Given the description of an element on the screen output the (x, y) to click on. 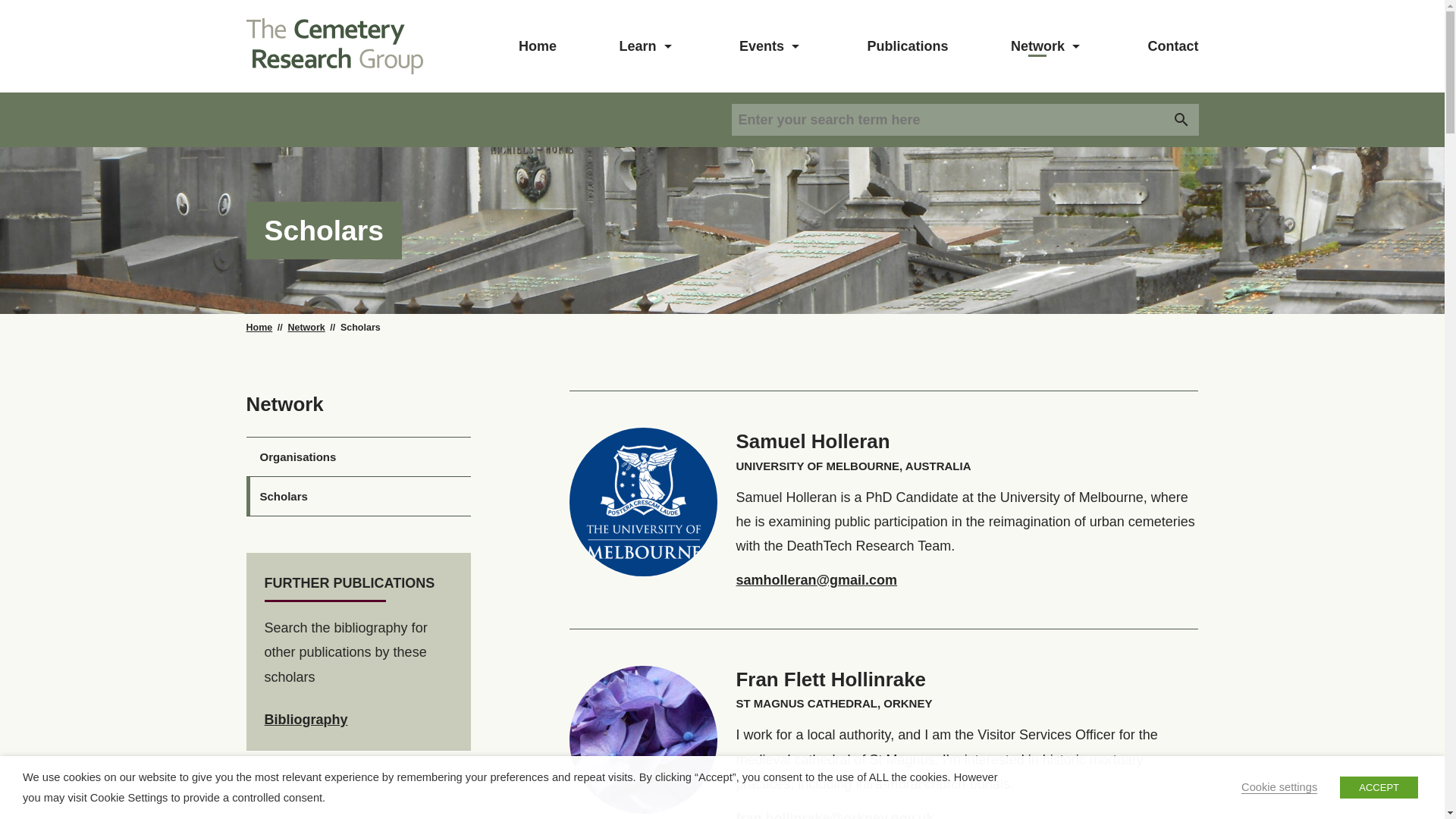
Publications (908, 46)
Search (1181, 119)
Home (259, 327)
Network (305, 327)
Samuel Holleran (812, 441)
Events (761, 46)
Home (537, 46)
Network (1037, 46)
Fran Flett Hollinrake (829, 679)
Contact (1172, 46)
Learn (637, 46)
